Given the description of an element on the screen output the (x, y) to click on. 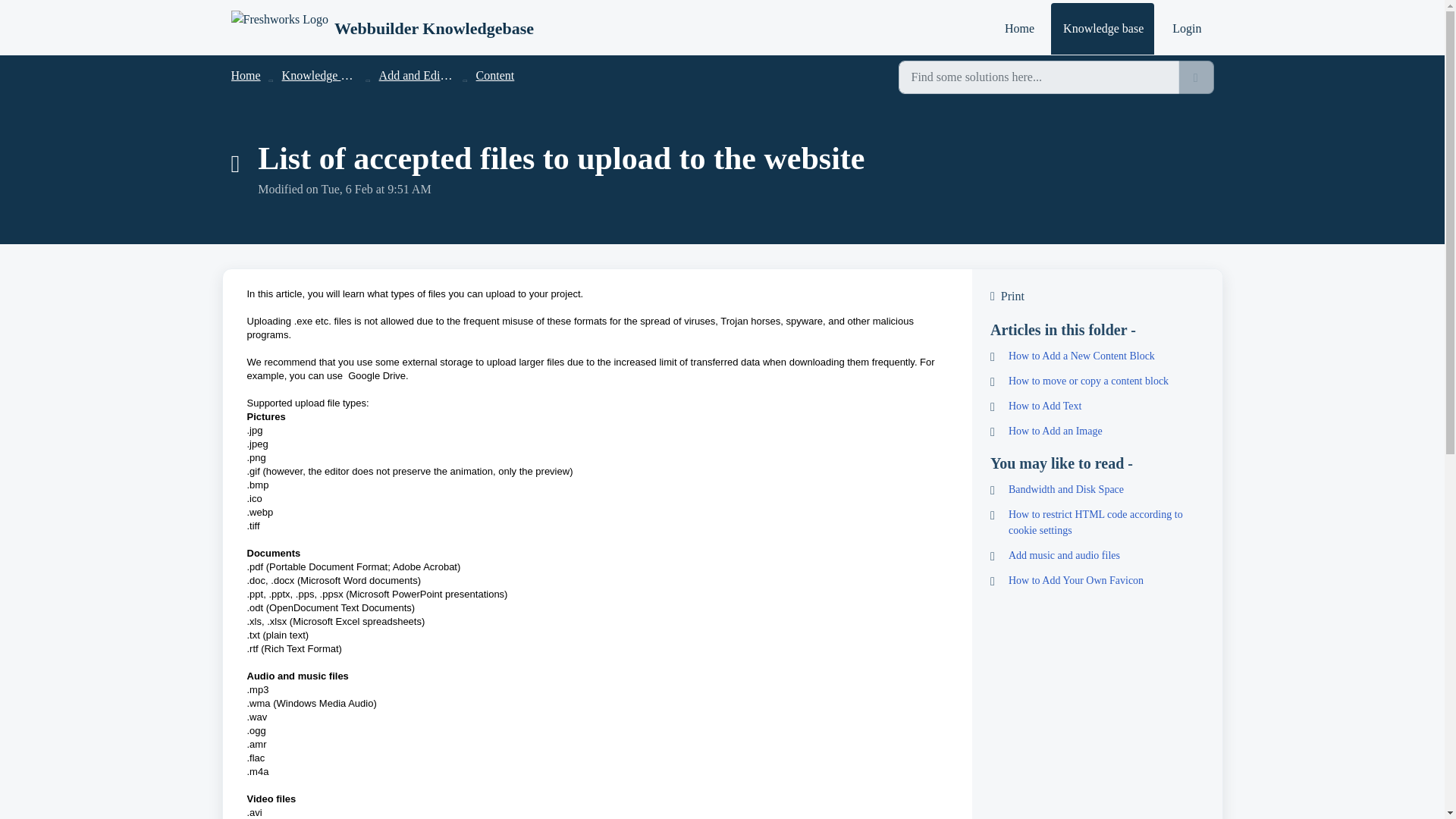
Add music and audio files (1097, 555)
Print (1097, 296)
Webbuilder Knowledgebase (434, 28)
Home (1018, 28)
Knowledge base (322, 74)
How to Add an Image (1097, 430)
How to restrict HTML code according to cookie settings (1097, 522)
Webbuilder Knowledgebase (381, 28)
Bandwidth and Disk Space (1097, 489)
How to move or copy a content block (1097, 381)
